Given the description of an element on the screen output the (x, y) to click on. 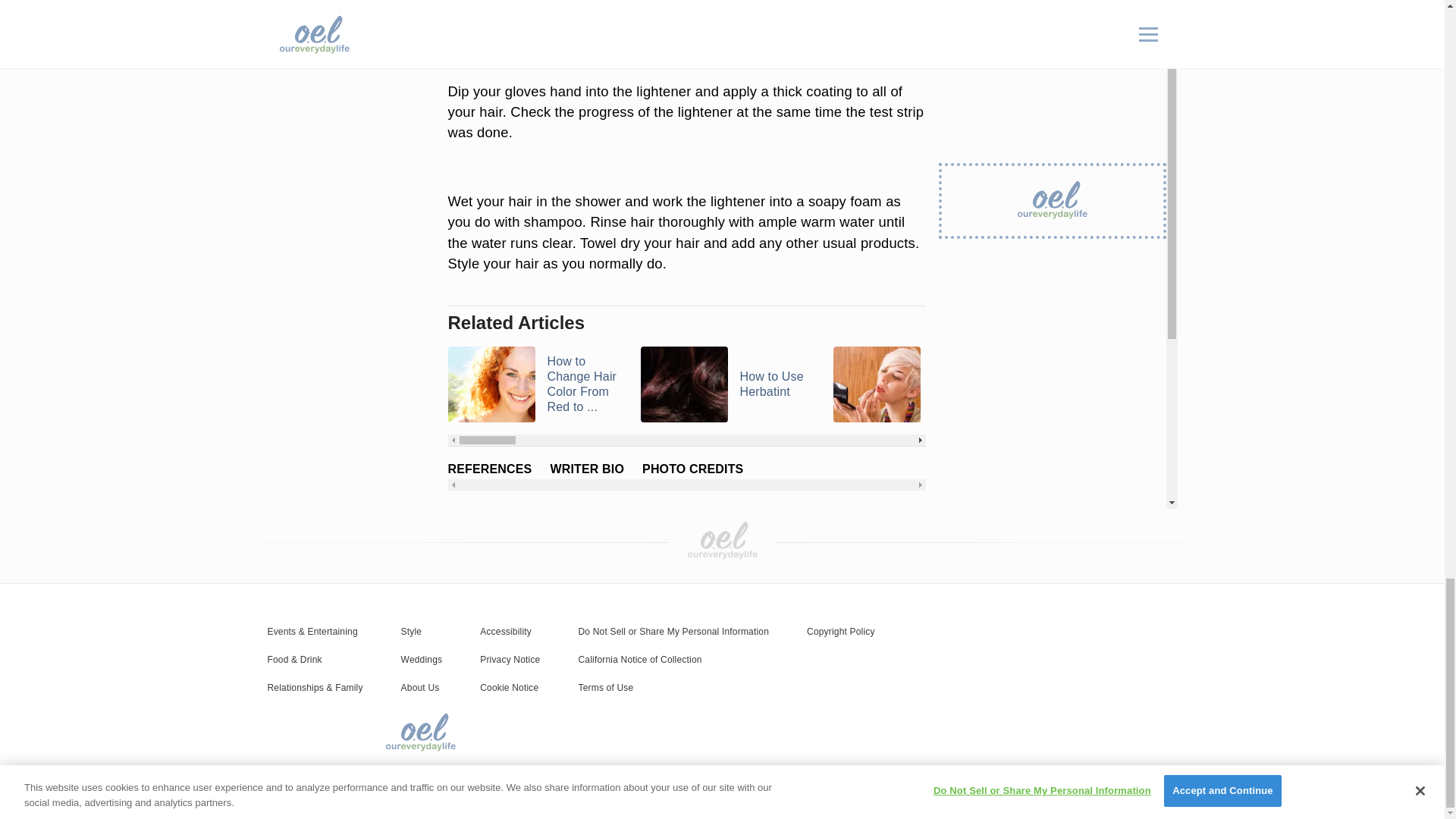
How to Cover Gray at the Temples (1304, 384)
How to Use Dark Ash Revlon Colorsilk (1112, 384)
How to Change Hair Color From Red to ... (533, 384)
How to Cover White Hair with Light ... (919, 384)
How to Use Herbatint (726, 384)
